Given the description of an element on the screen output the (x, y) to click on. 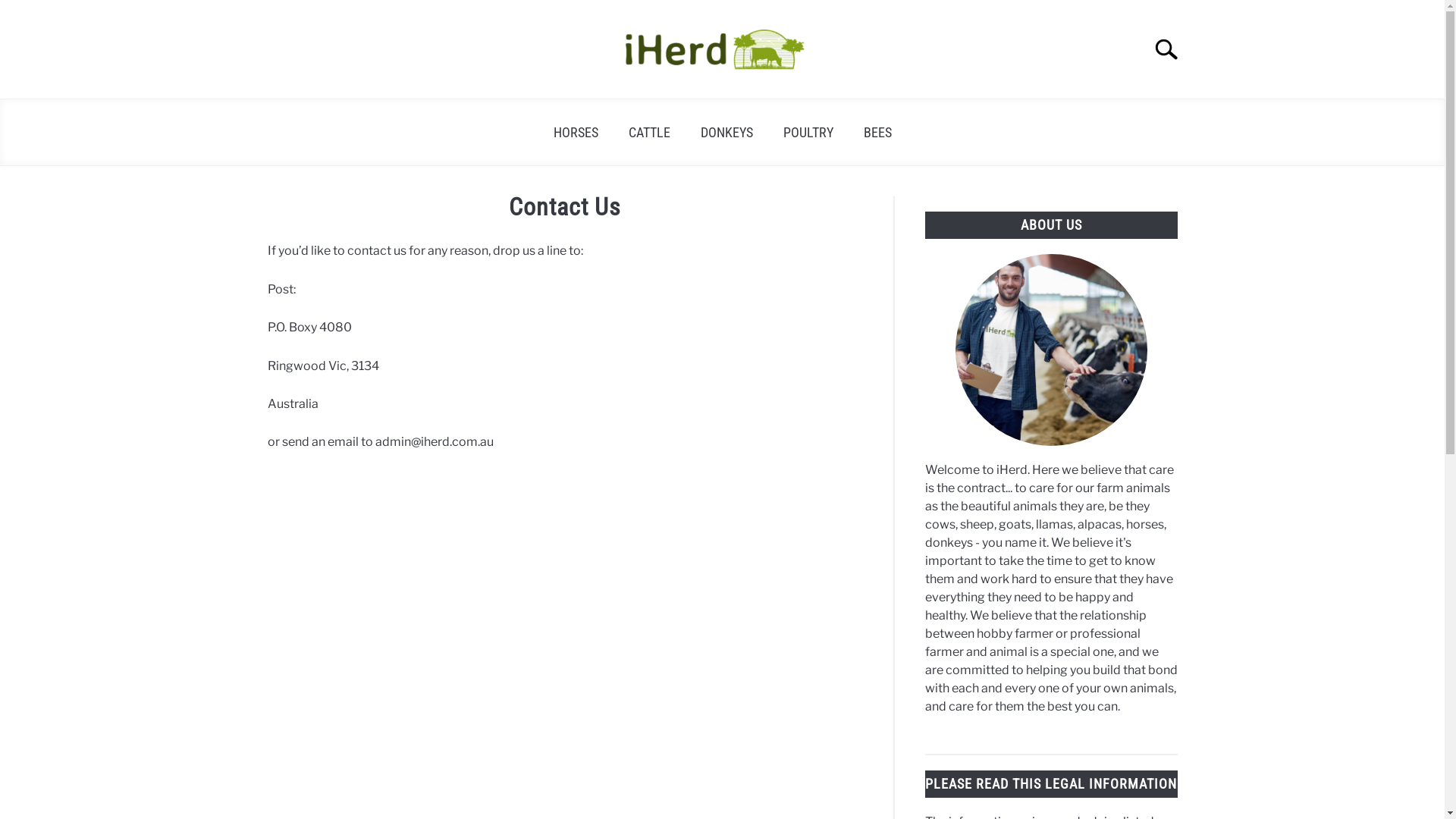
POULTRY Element type: text (807, 132)
BEES Element type: text (876, 132)
HORSES Element type: text (575, 132)
Search Element type: text (1173, 48)
DONKEYS Element type: text (726, 132)
CATTLE Element type: text (648, 132)
